Given the description of an element on the screen output the (x, y) to click on. 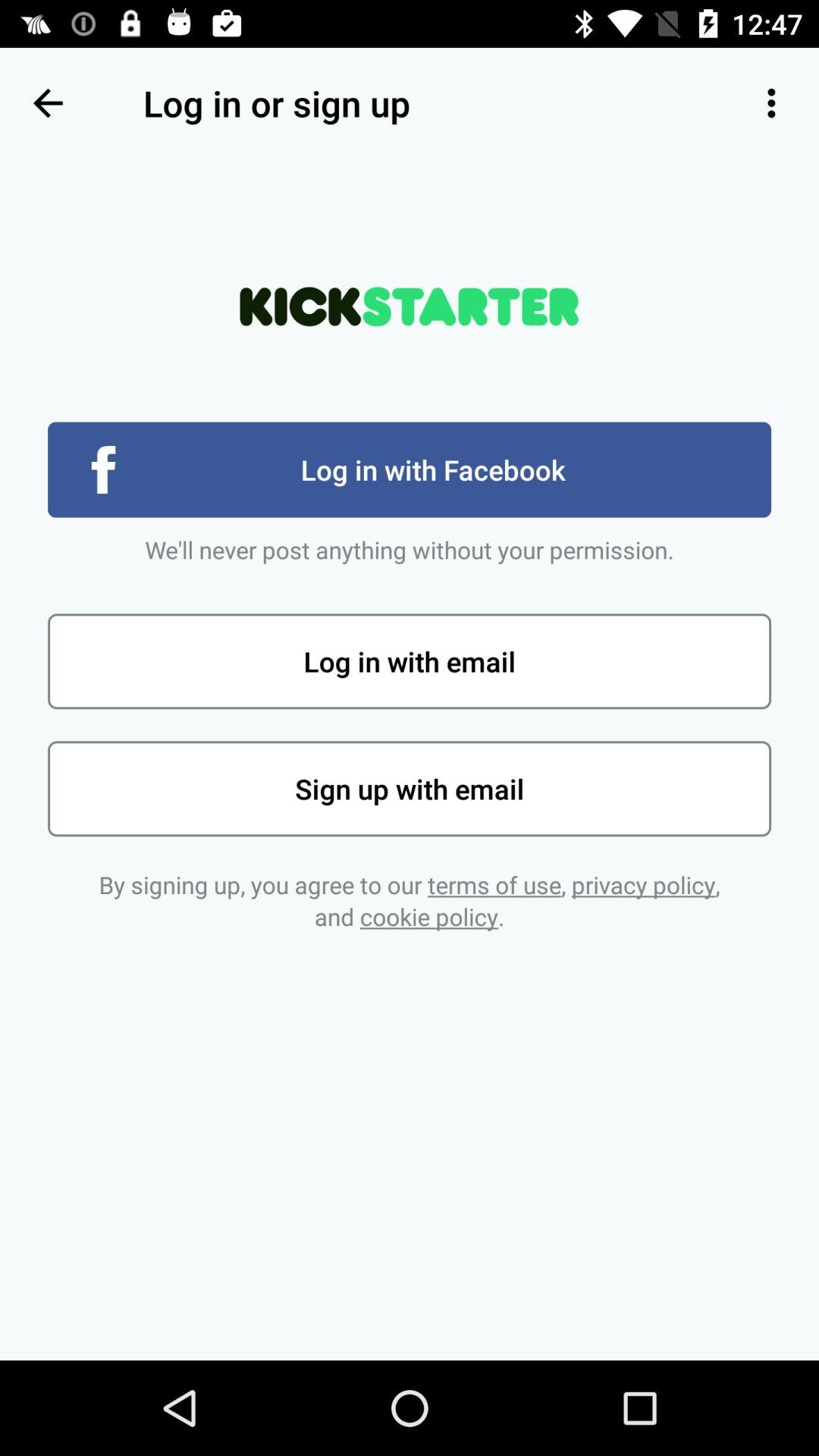
select item above log in with item (47, 103)
